Given the description of an element on the screen output the (x, y) to click on. 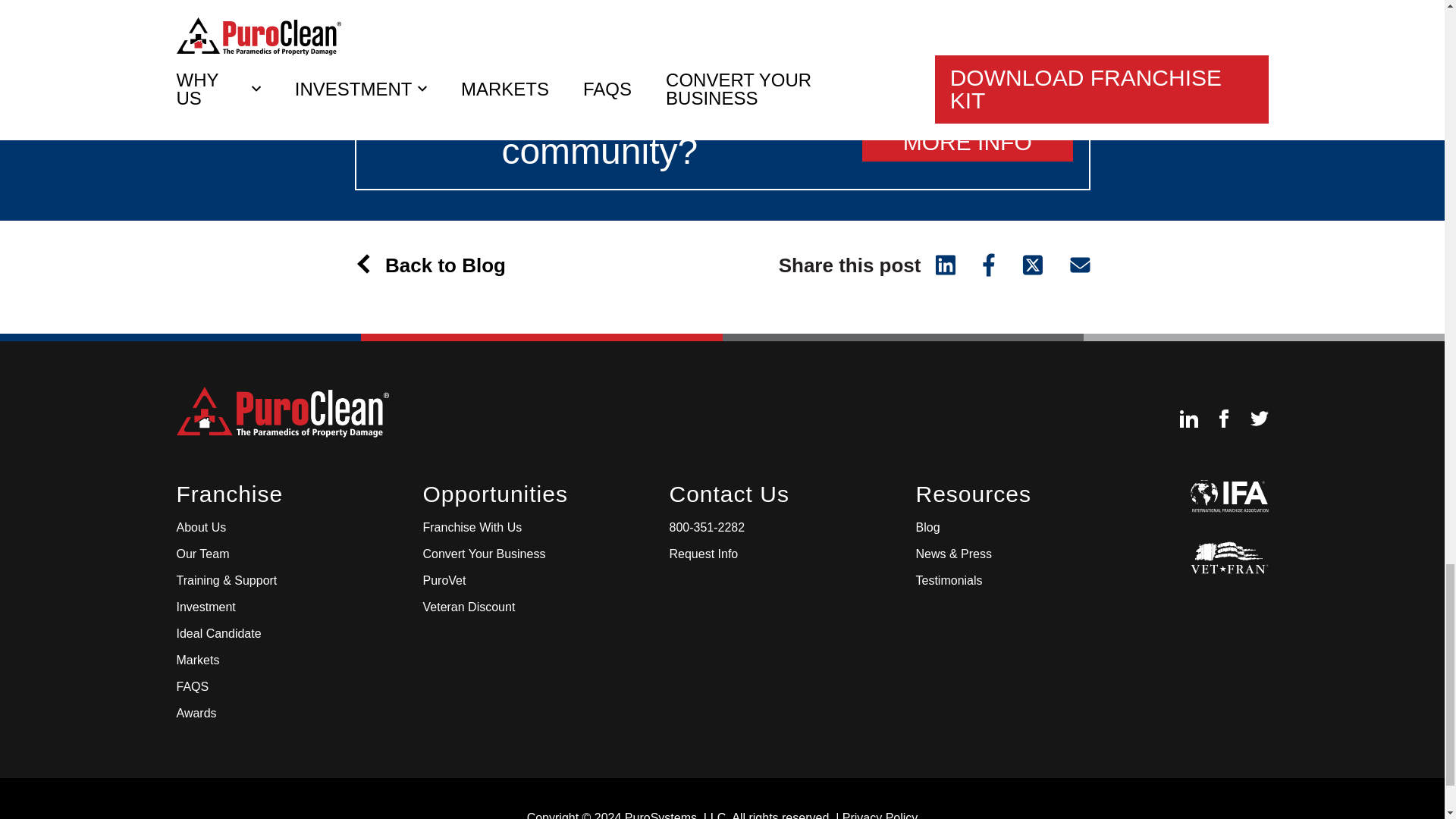
Back to Blog (438, 264)
download a free information kit (710, 7)
About Us (200, 527)
REQUEST MORE INFO (967, 130)
Email this Article (1072, 262)
Share on LinkedIn (944, 262)
Our Team (202, 554)
Share on Facebook (989, 262)
Share on Twitter (1033, 262)
